Given the description of an element on the screen output the (x, y) to click on. 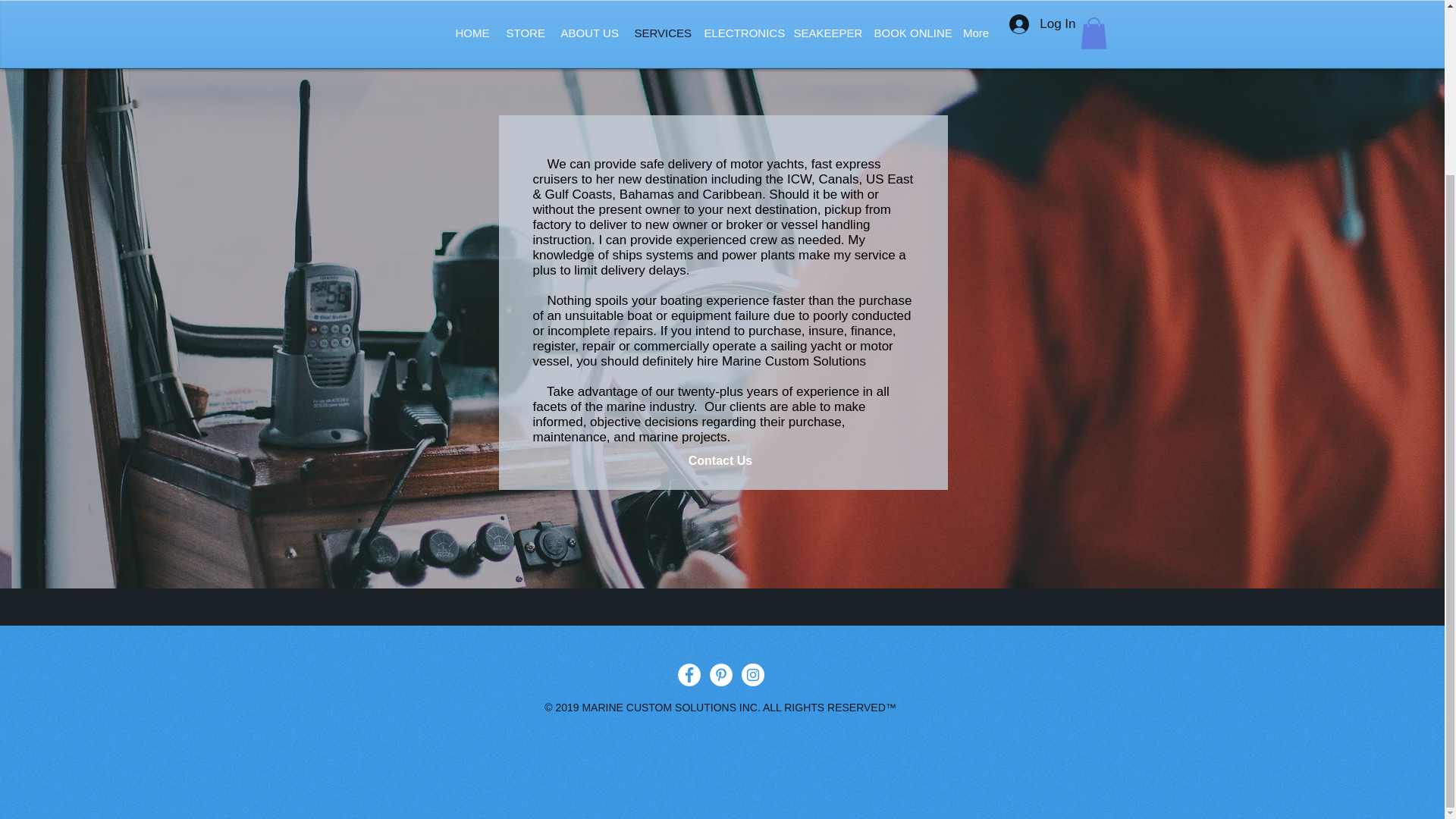
Contact Us (719, 461)
